Given the description of an element on the screen output the (x, y) to click on. 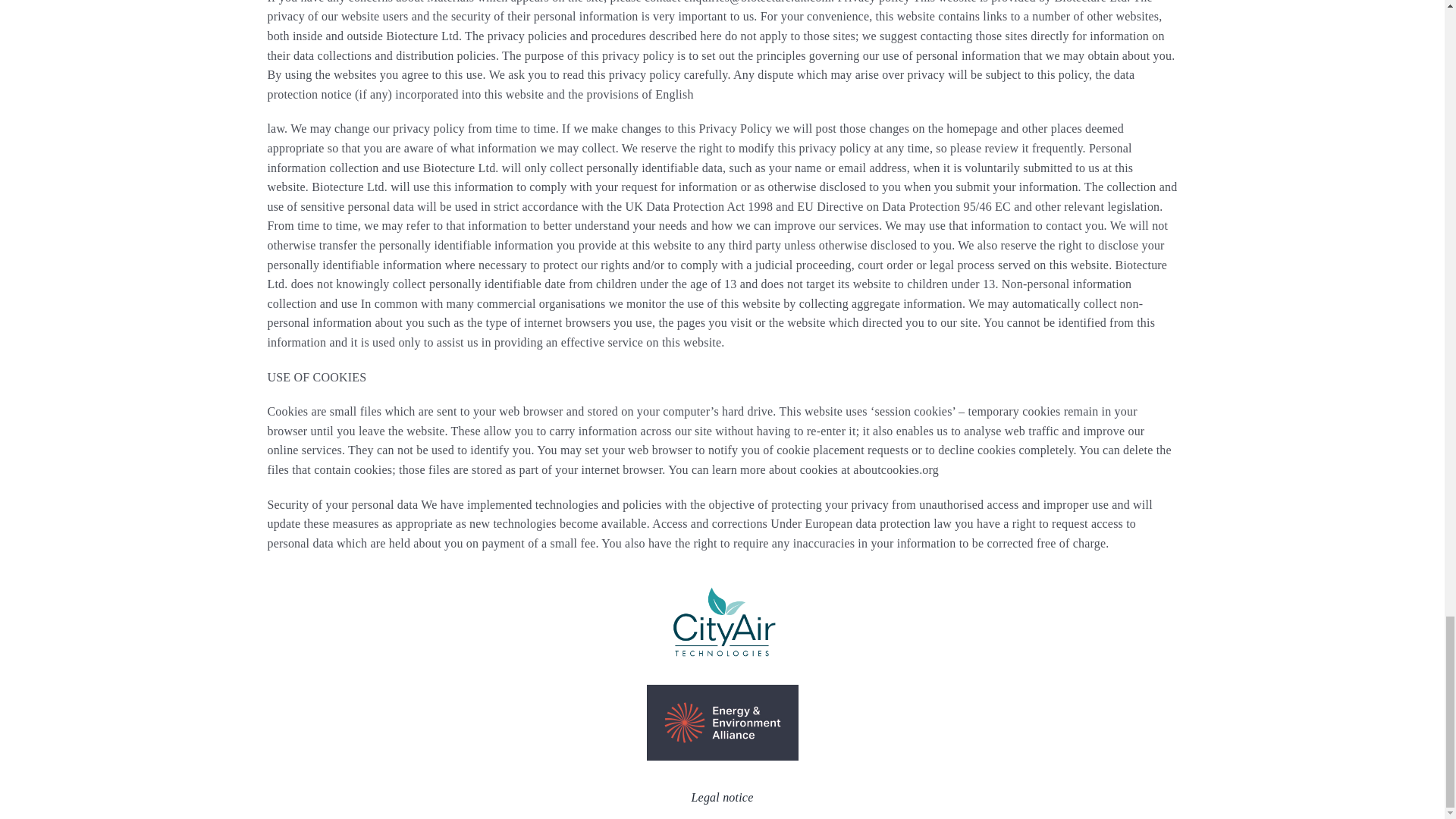
Legal notice (722, 797)
